Given the description of an element on the screen output the (x, y) to click on. 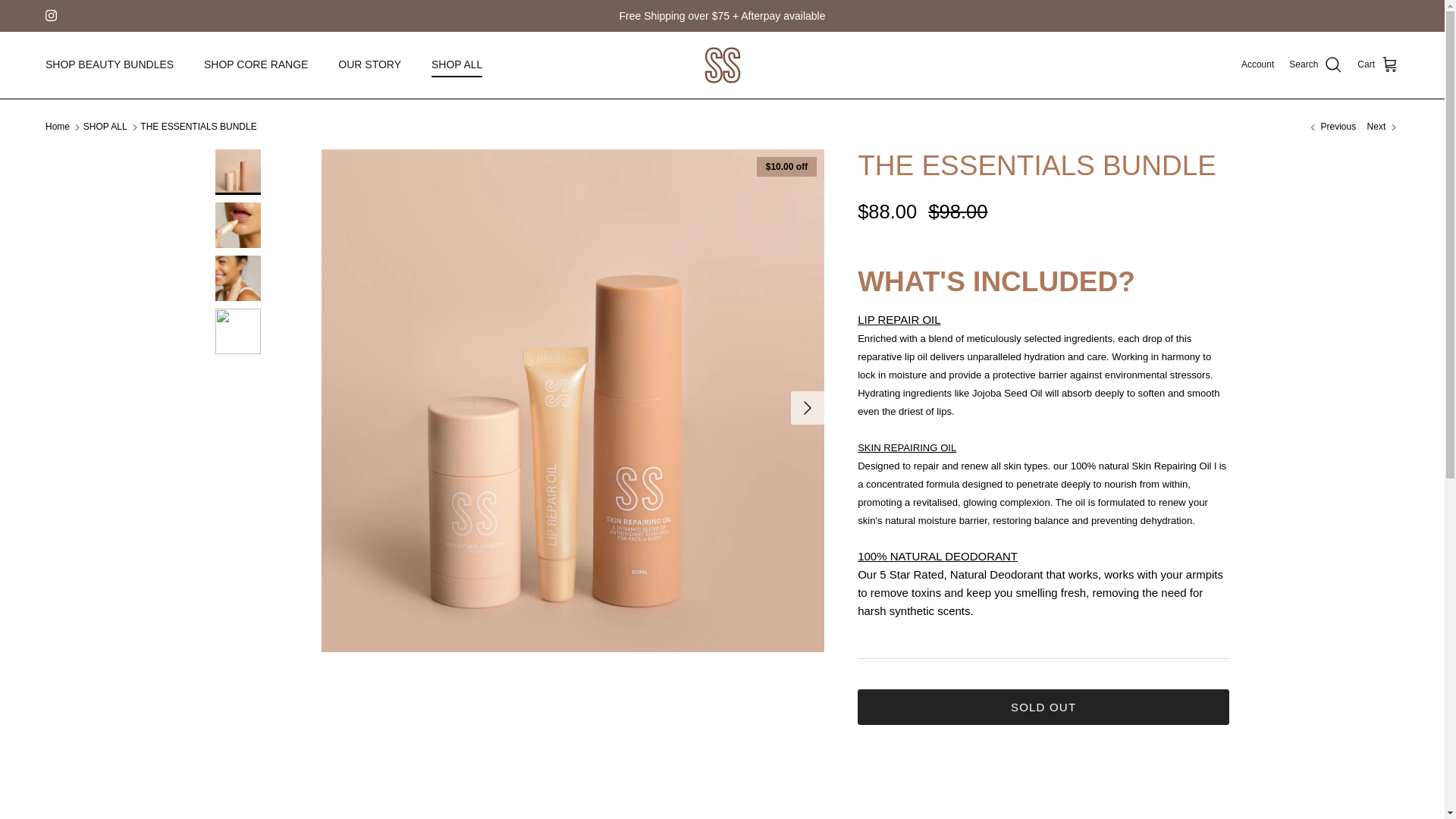
THE HEALTHY GLOW BUNDLE (1331, 126)
SHOP CORE RANGE (255, 64)
Next (1383, 126)
THE ESSENTIALS BUNDLE (197, 127)
SHOP BEAUTY BUNDLES (109, 64)
Account (1257, 64)
SHOP ALL (456, 64)
Cart (1377, 65)
Search (1315, 65)
Instagram (50, 15)
OUR STORY (369, 64)
Summer Skin Australia on Instagram (50, 15)
Home (57, 127)
Previous (1331, 126)
SOLD OUT (1042, 706)
